Given the description of an element on the screen output the (x, y) to click on. 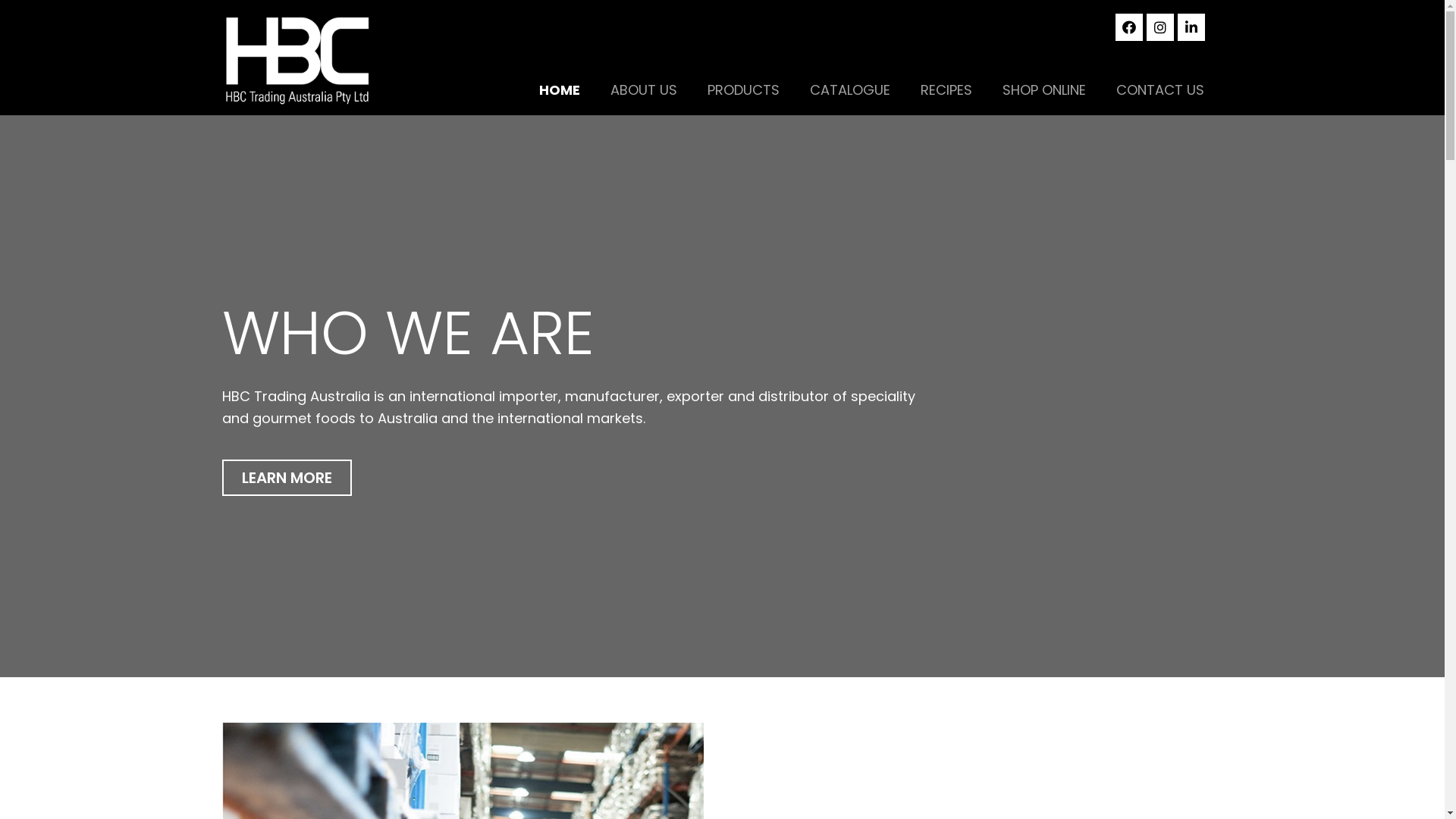
HOME Element type: text (559, 89)
SHOP ONLINE Element type: text (1044, 89)
CONTACT US Element type: text (1160, 89)
ABOUT US Element type: text (643, 89)
RECIPES Element type: text (946, 89)
LEARN MORE Element type: text (286, 477)
CATALOGUE Element type: text (849, 89)
PRODUCTS Element type: text (743, 89)
